Given the description of an element on the screen output the (x, y) to click on. 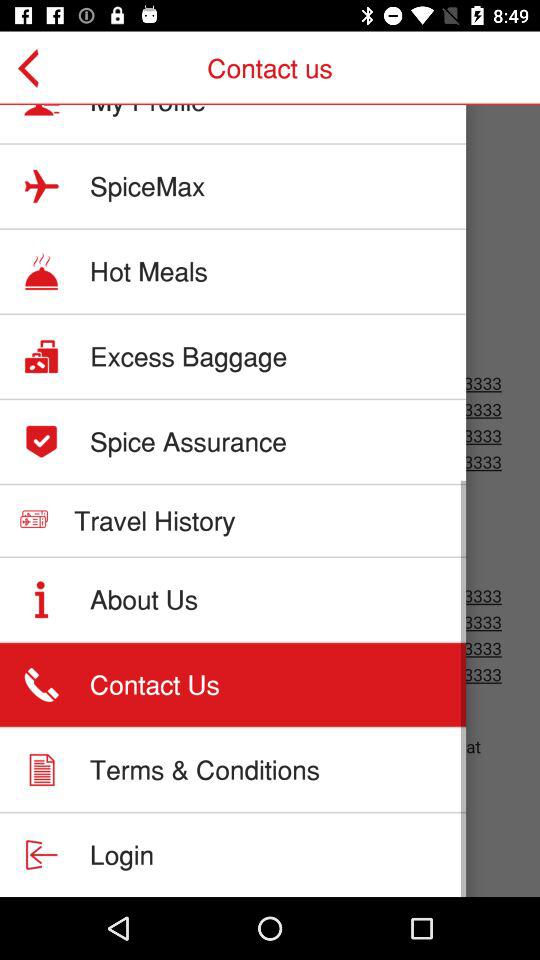
launch spicemax (147, 186)
